Given the description of an element on the screen output the (x, y) to click on. 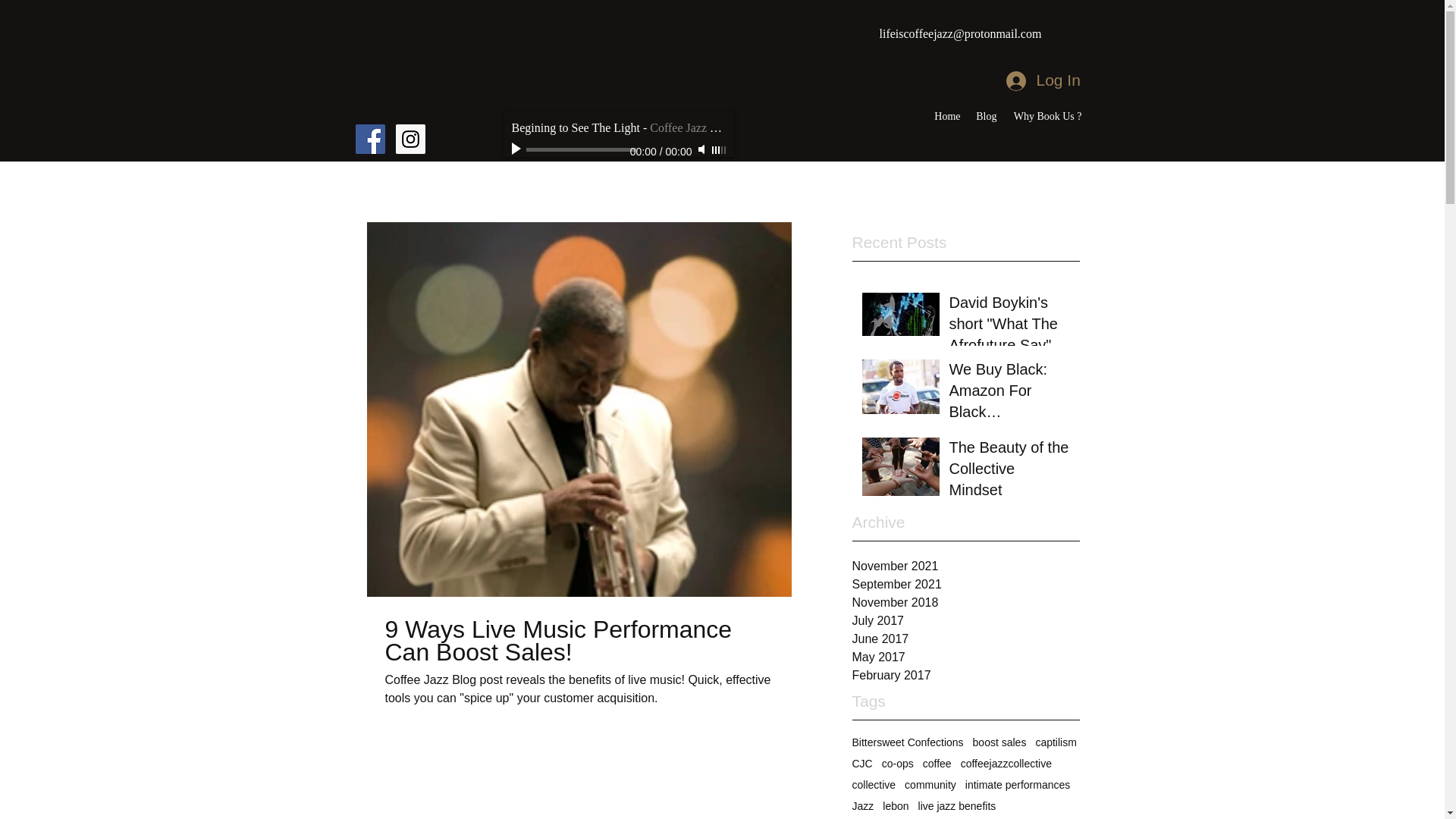
intimate performances (1017, 784)
July 2017 (965, 620)
CJC (861, 763)
Facebook Like (379, 103)
coffee (937, 763)
coffeejazzcollective (1005, 763)
Bittersweet Confections (907, 742)
community (930, 784)
Jazz (863, 806)
The Beauty of the Collective Mindset (1009, 471)
